Given the description of an element on the screen output the (x, y) to click on. 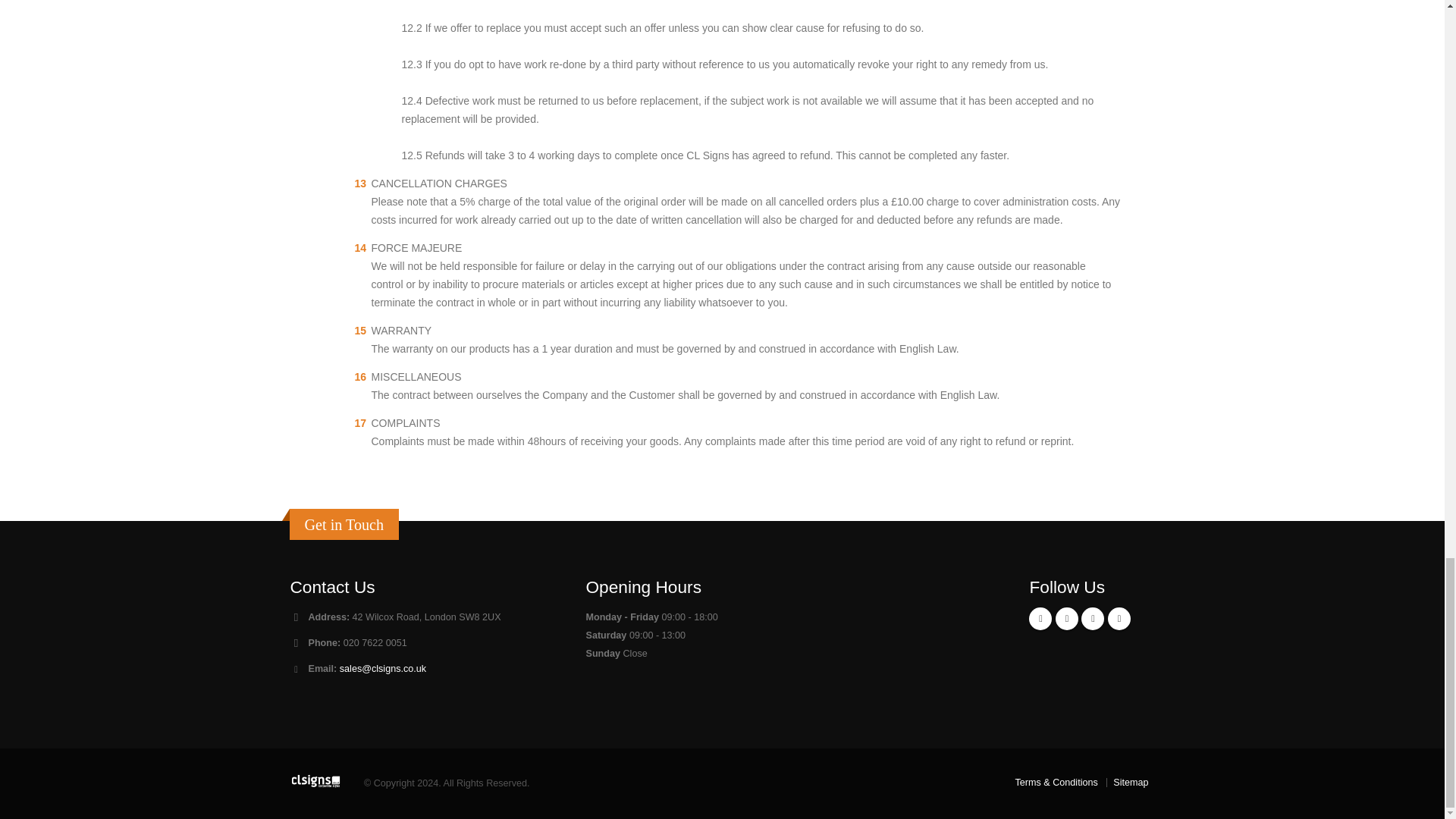
Connection London Signs Logo (314, 780)
Twitter (1092, 618)
YouTube (1119, 618)
Instagram (1066, 618)
Facebook (1040, 618)
